Given the description of an element on the screen output the (x, y) to click on. 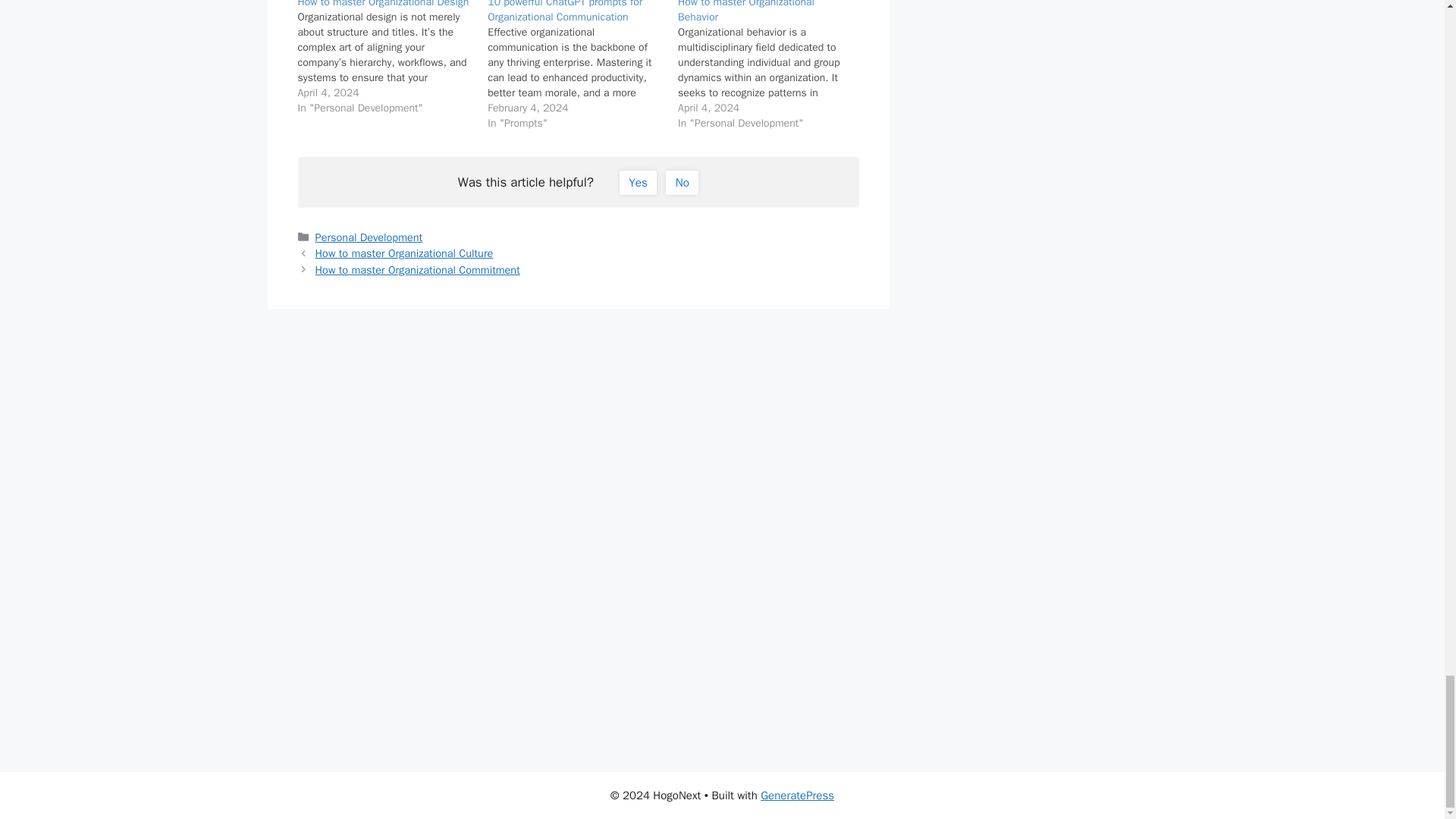
How to master Organizational Commitment (417, 269)
10 powerful ChatGPT prompts for Organizational Communication (564, 11)
Personal Development (369, 237)
How to master Organizational Behavior (745, 11)
How to master Organizational Design (382, 4)
How to master Organizational Behavior (745, 11)
How to master Organizational Behavior (772, 65)
How to master Organizational Culture (404, 253)
How to master Organizational Design (382, 4)
How to master Organizational Design (392, 58)
